Given the description of an element on the screen output the (x, y) to click on. 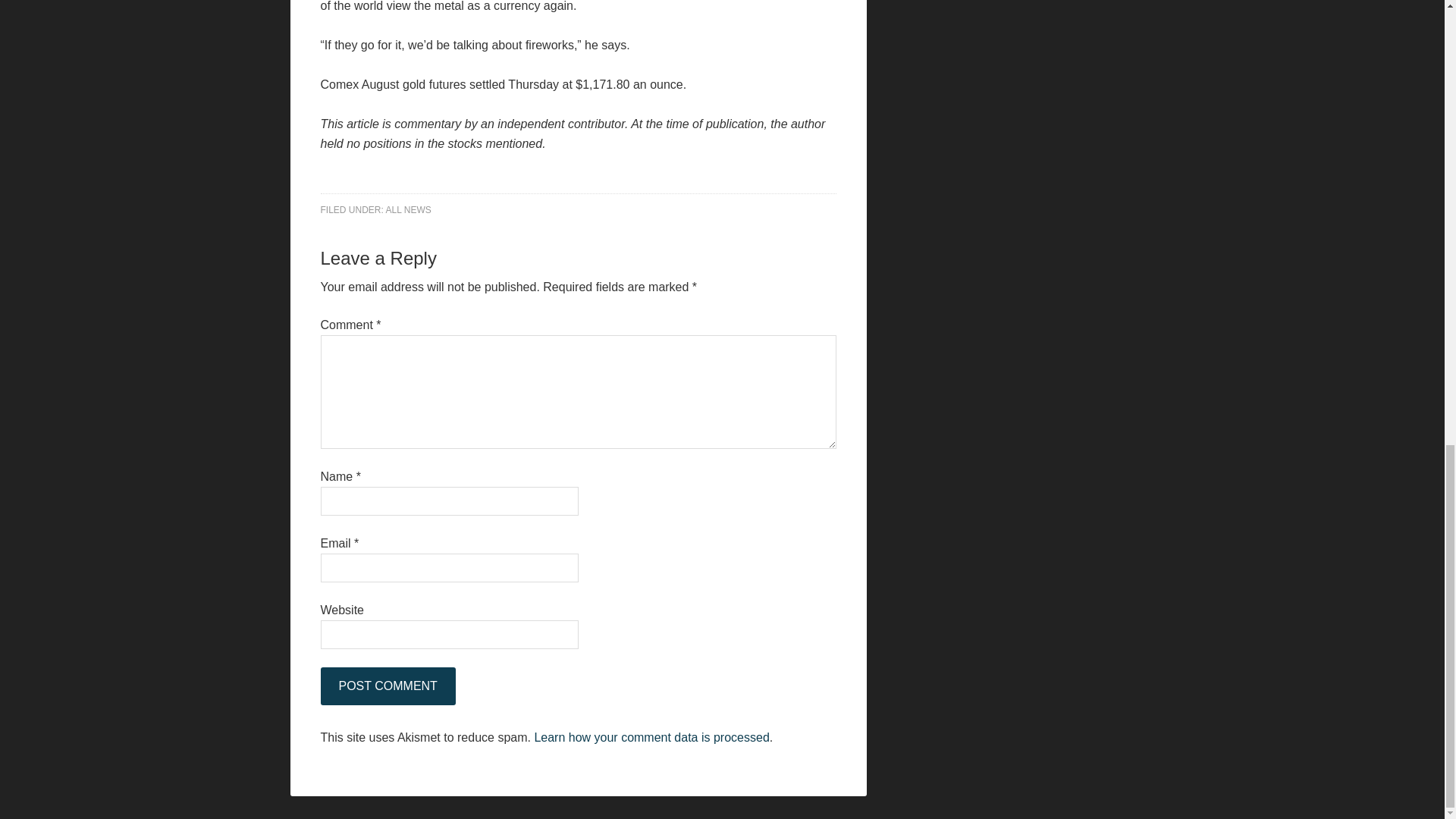
ALL NEWS (407, 209)
Post Comment (387, 686)
Learn how your comment data is processed (651, 737)
Post Comment (387, 686)
